Given the description of an element on the screen output the (x, y) to click on. 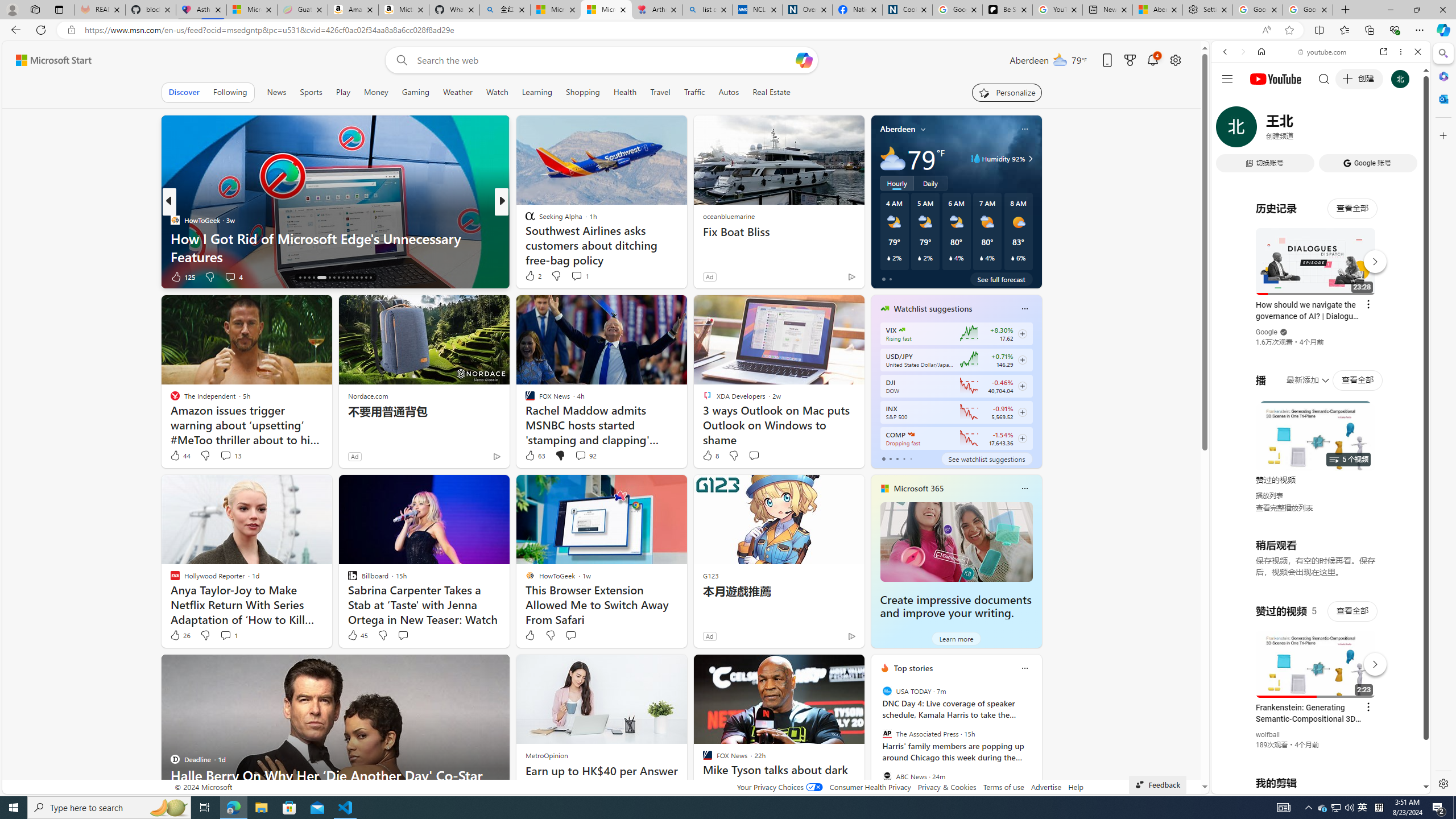
View comments 9 Comment (576, 276)
20 Like (530, 276)
63 Like (534, 455)
tab-1 (889, 458)
View comments 92 Comment (580, 455)
My location (922, 128)
tab-2 (897, 458)
AutomationID: tab-29 (366, 277)
